Given the description of an element on the screen output the (x, y) to click on. 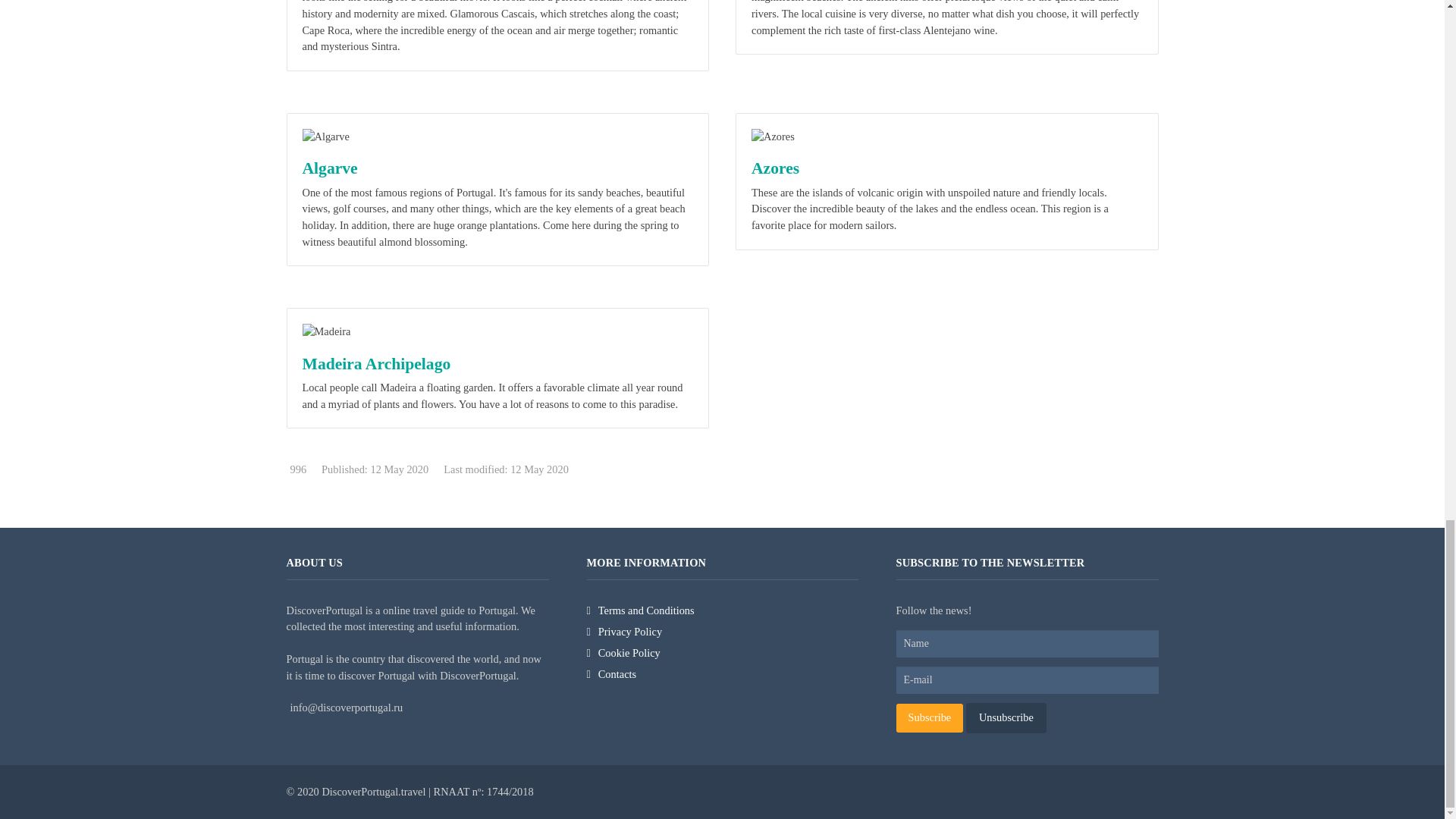
Terms and Conditions (722, 610)
E-mail (1027, 679)
Unsubscribe (1006, 717)
Name (1027, 643)
Name (1027, 643)
Subscribe (929, 717)
Views: (296, 469)
E-mail (1027, 679)
Privacy Policy (722, 632)
Article Update Date (506, 469)
